Given the description of an element on the screen output the (x, y) to click on. 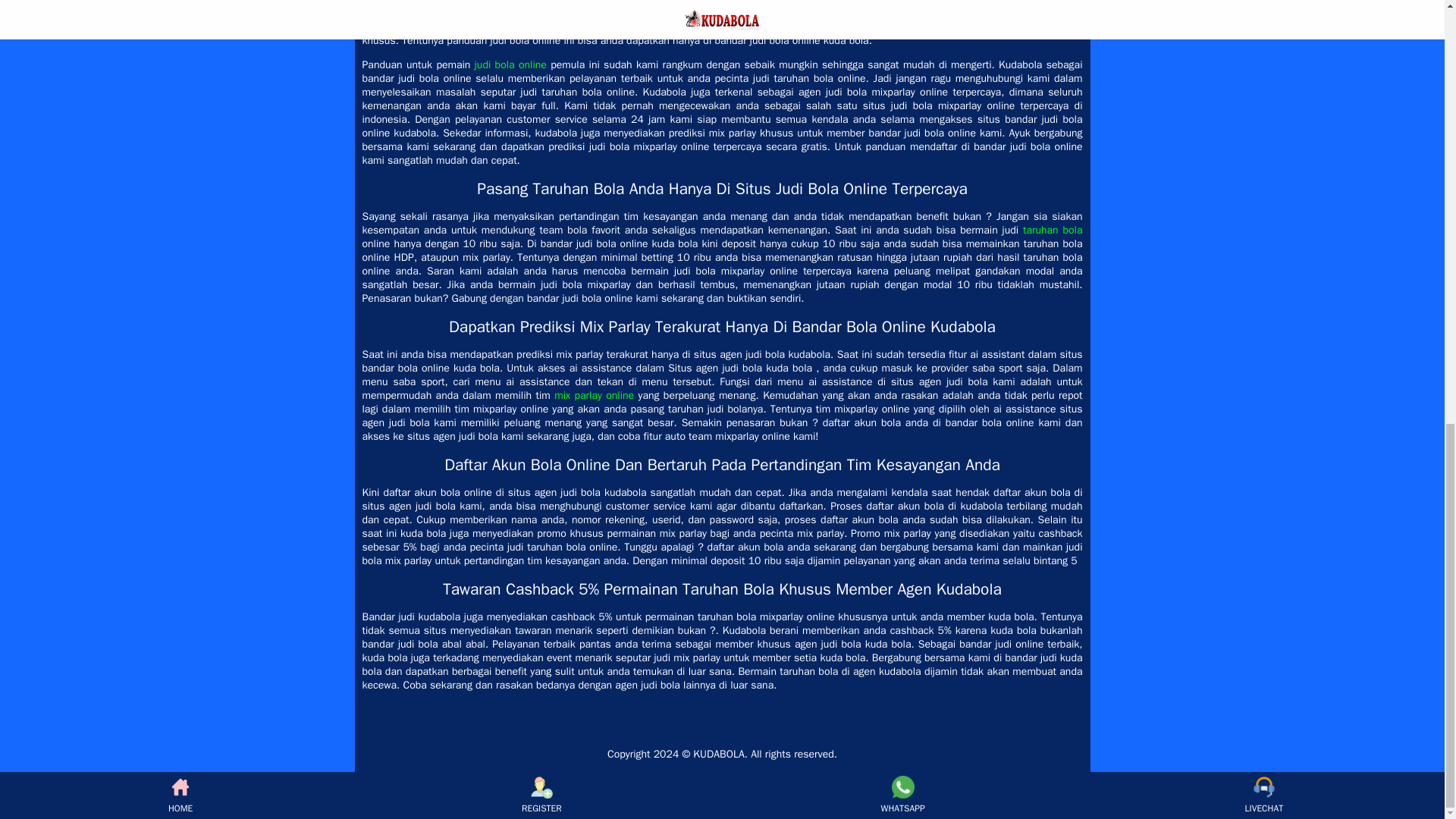
mix parlay online (593, 395)
judi bola online (510, 64)
taruhan bola (1053, 229)
